Given the description of an element on the screen output the (x, y) to click on. 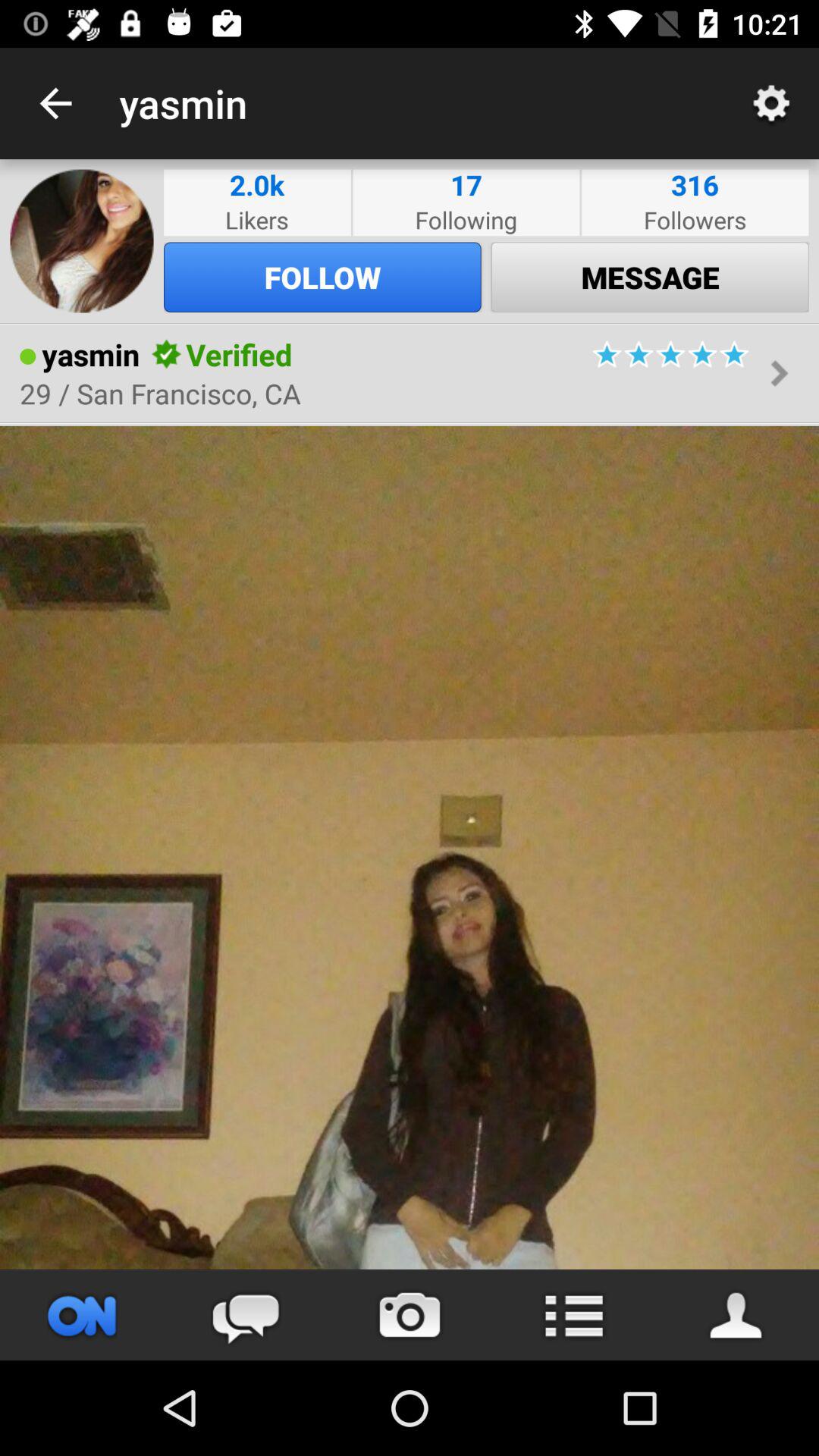
click item above message icon (694, 219)
